Given the description of an element on the screen output the (x, y) to click on. 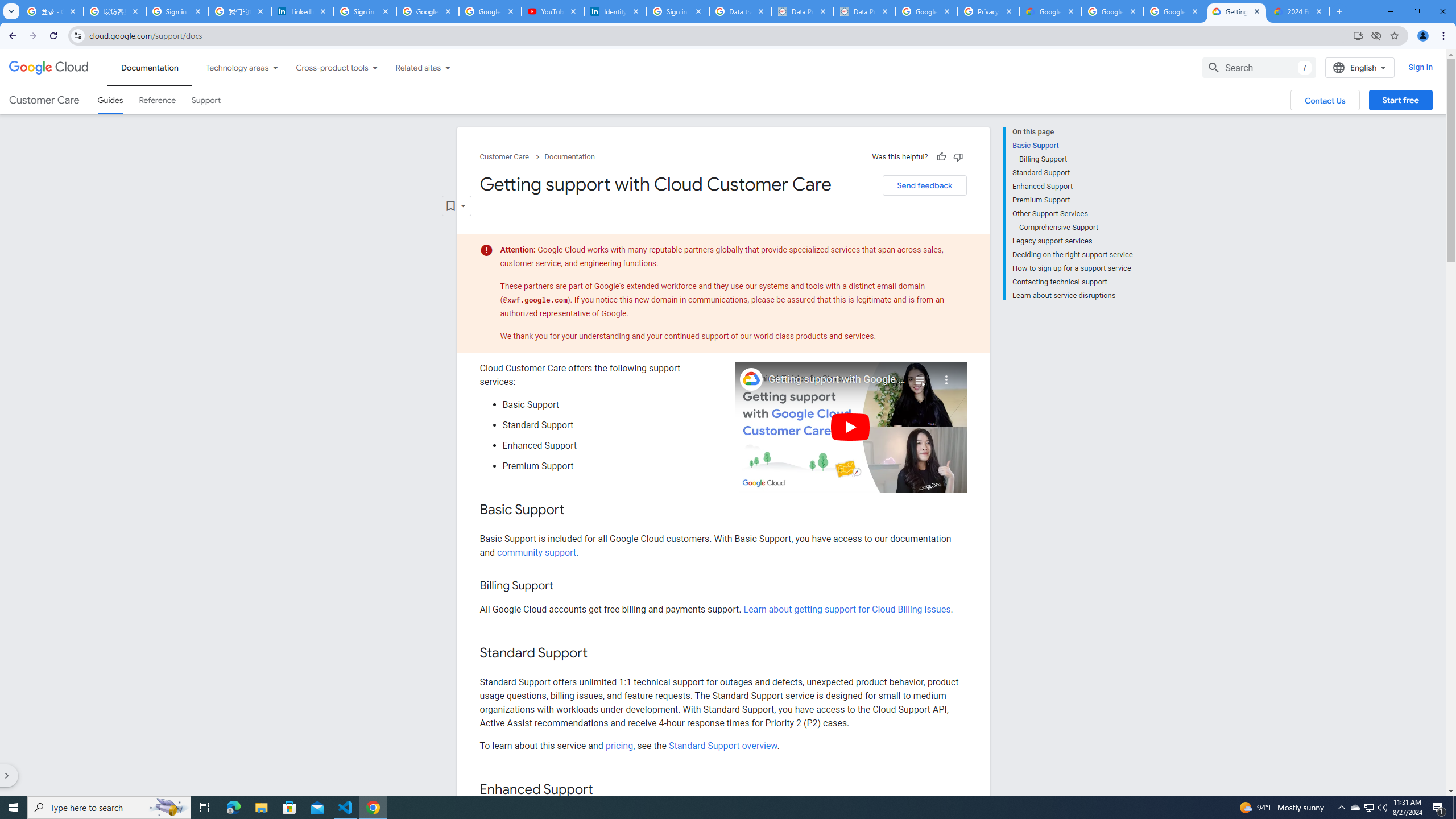
Billing Support (1075, 159)
Legacy support services (1071, 241)
Standard Support (1071, 172)
Technology areas (230, 67)
community support (536, 552)
Google Cloud (48, 67)
Copy link to this section: Standard Support (599, 653)
pricing (619, 745)
